Given the description of an element on the screen output the (x, y) to click on. 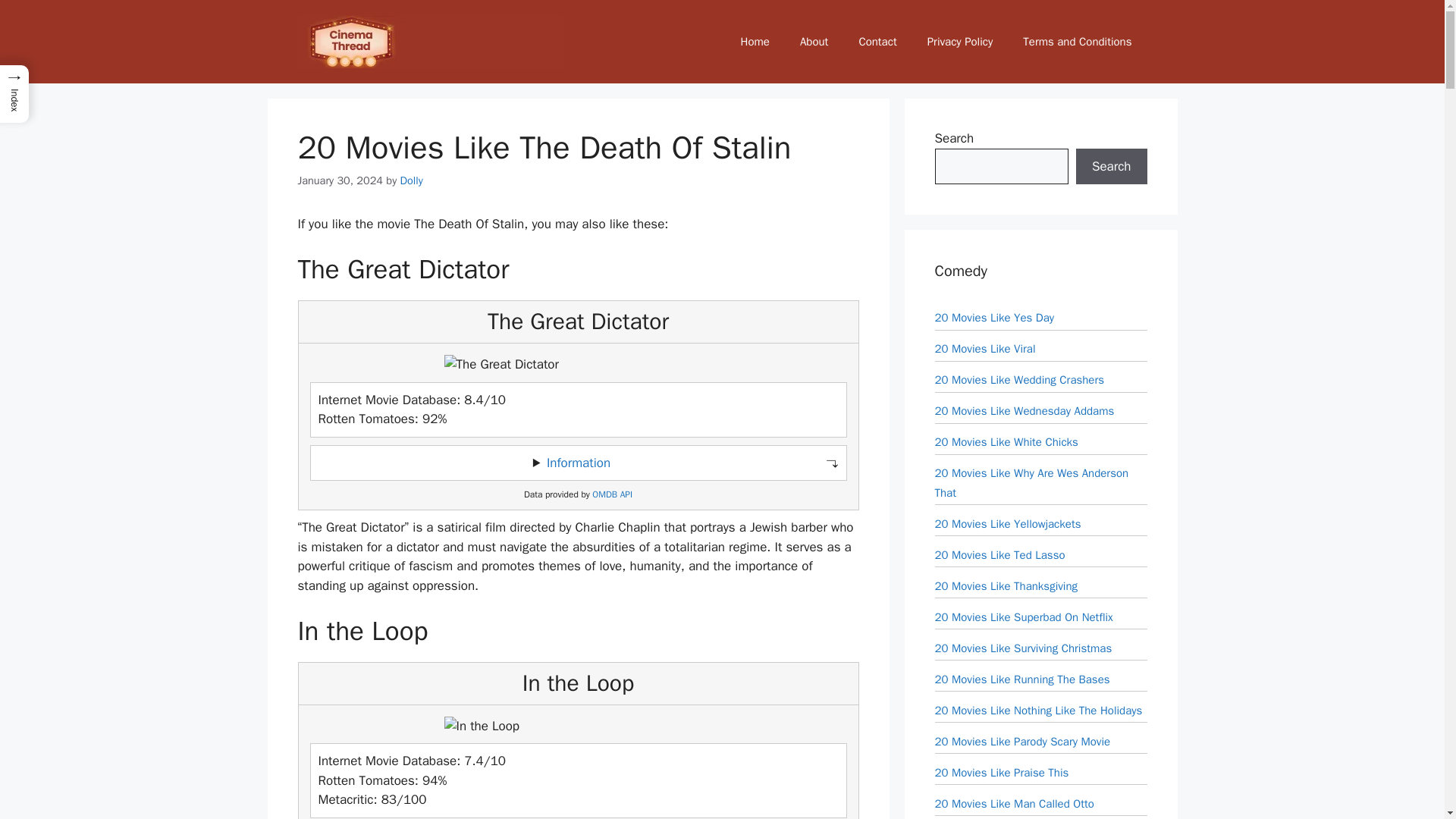
Contact (877, 41)
Terms and Conditions (1077, 41)
Open Movie Database API (611, 494)
Information (578, 462)
OMDB API (611, 494)
Privacy Policy (960, 41)
Dolly (411, 180)
About (813, 41)
View all posts by Dolly (411, 180)
Toggle information (578, 462)
Home (754, 41)
